Given the description of an element on the screen output the (x, y) to click on. 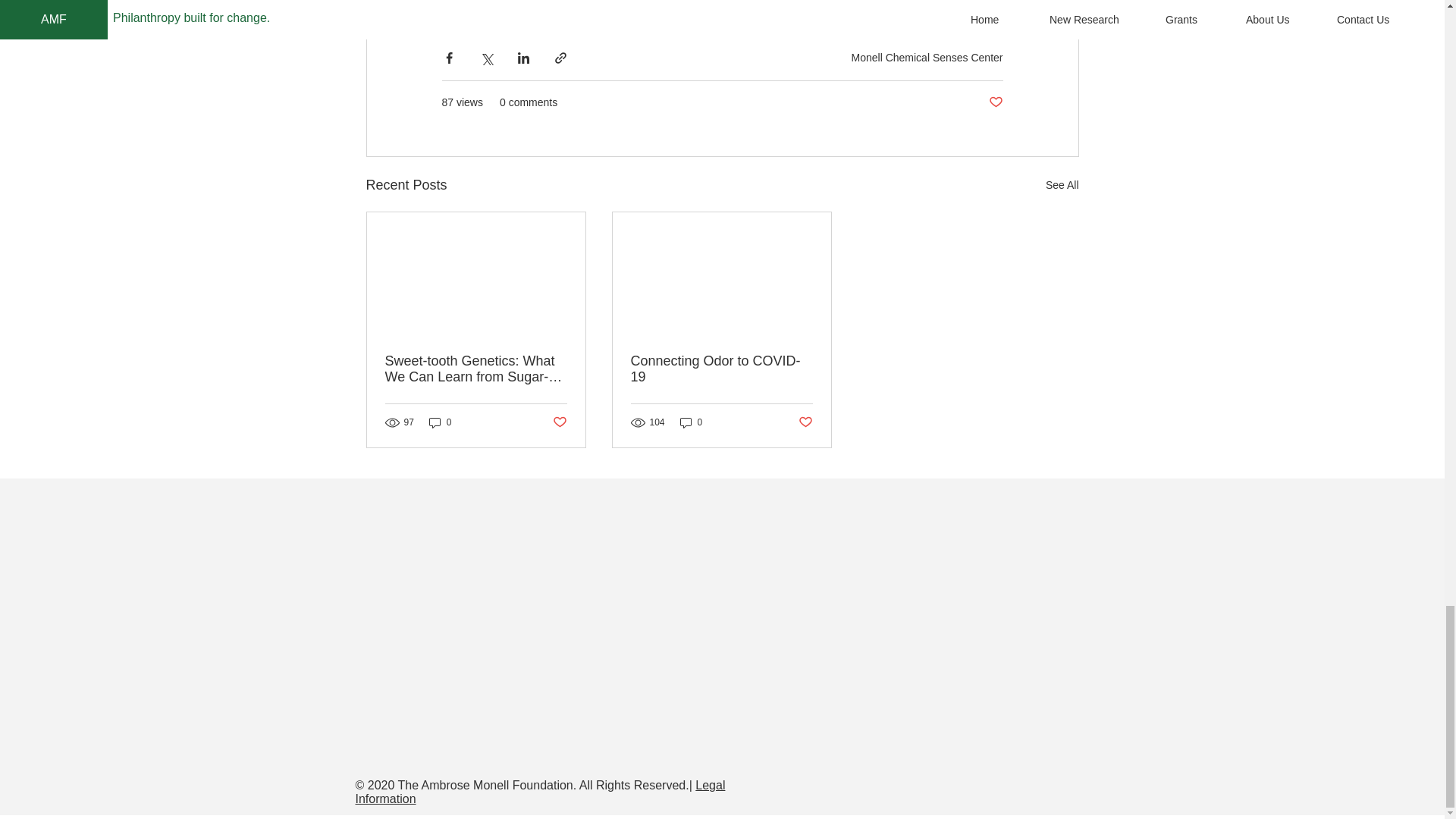
See All (1061, 185)
Monell Chemical Senses Center (927, 57)
Post not marked as liked (995, 102)
